Given the description of an element on the screen output the (x, y) to click on. 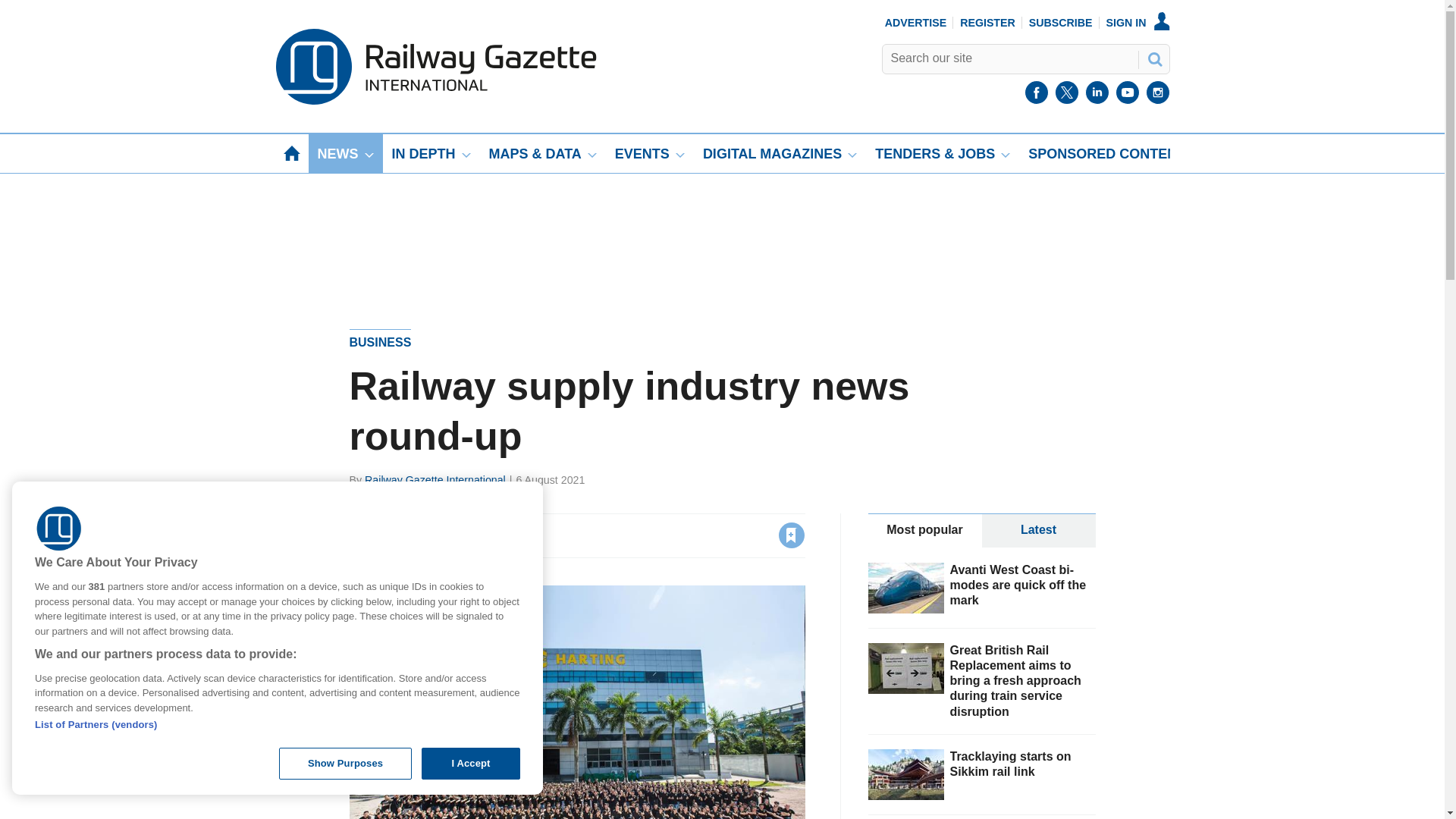
ADVERTISE (915, 22)
Share this on Facebook (362, 534)
REGISTER (986, 22)
Email this article (460, 534)
SIGN IN (1138, 22)
Share this on Twitter (395, 534)
SEARCH (1153, 58)
Share this on Linked in (427, 534)
SUBSCRIBE (1061, 22)
Railway Gazette Logo (58, 528)
Railway Gazette (435, 101)
3rd party ad content (721, 225)
